Given the description of an element on the screen output the (x, y) to click on. 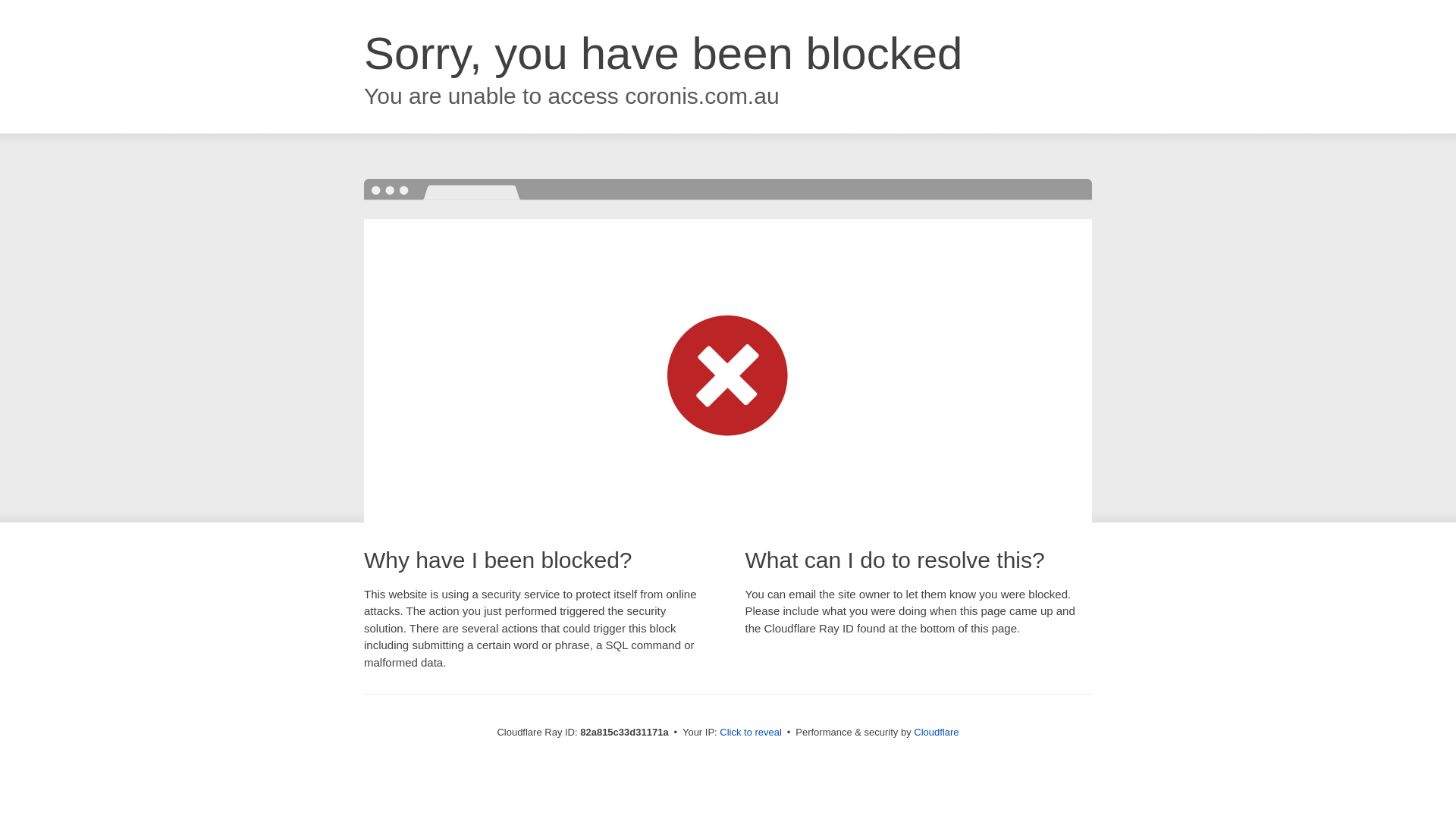
Click to reveal Element type: text (750, 732)
Cloudflare Element type: text (935, 731)
